Given the description of an element on the screen output the (x, y) to click on. 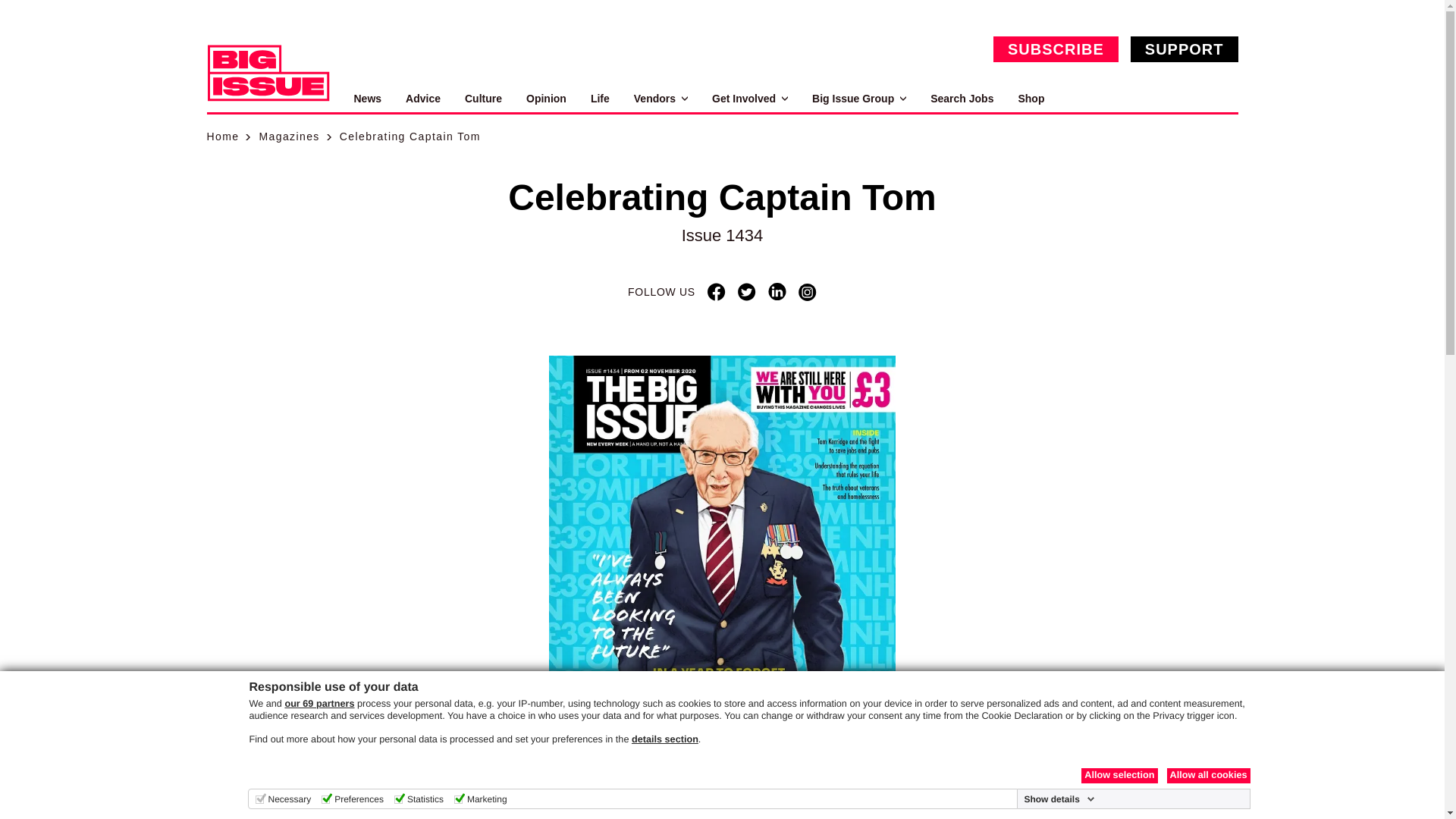
Allow all cookies (1207, 775)
Allow selection (1119, 775)
details section (664, 738)
Show details (1058, 799)
our 69 partners (318, 703)
